Given the description of an element on the screen output the (x, y) to click on. 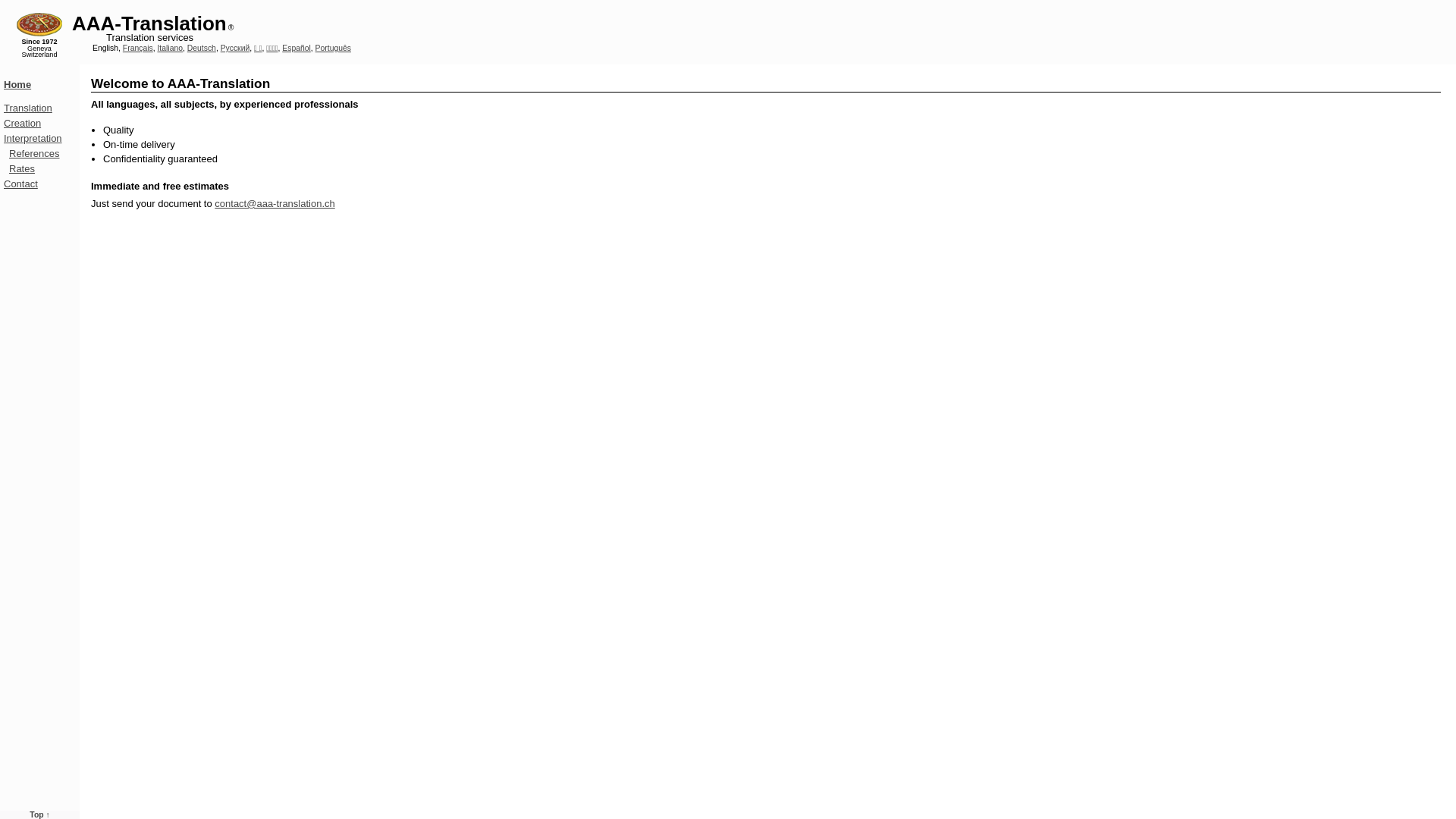
Translation Element type: text (27, 107)
Interpretation Element type: text (32, 138)
Creation Element type: text (21, 122)
Italiano Element type: text (169, 47)
References Element type: text (34, 153)
Home Element type: text (17, 84)
contact@aaa-translation.ch Element type: text (274, 203)
Rates Element type: text (21, 168)
Contact Element type: text (20, 183)
Deutsch Element type: text (201, 47)
